Given the description of an element on the screen output the (x, y) to click on. 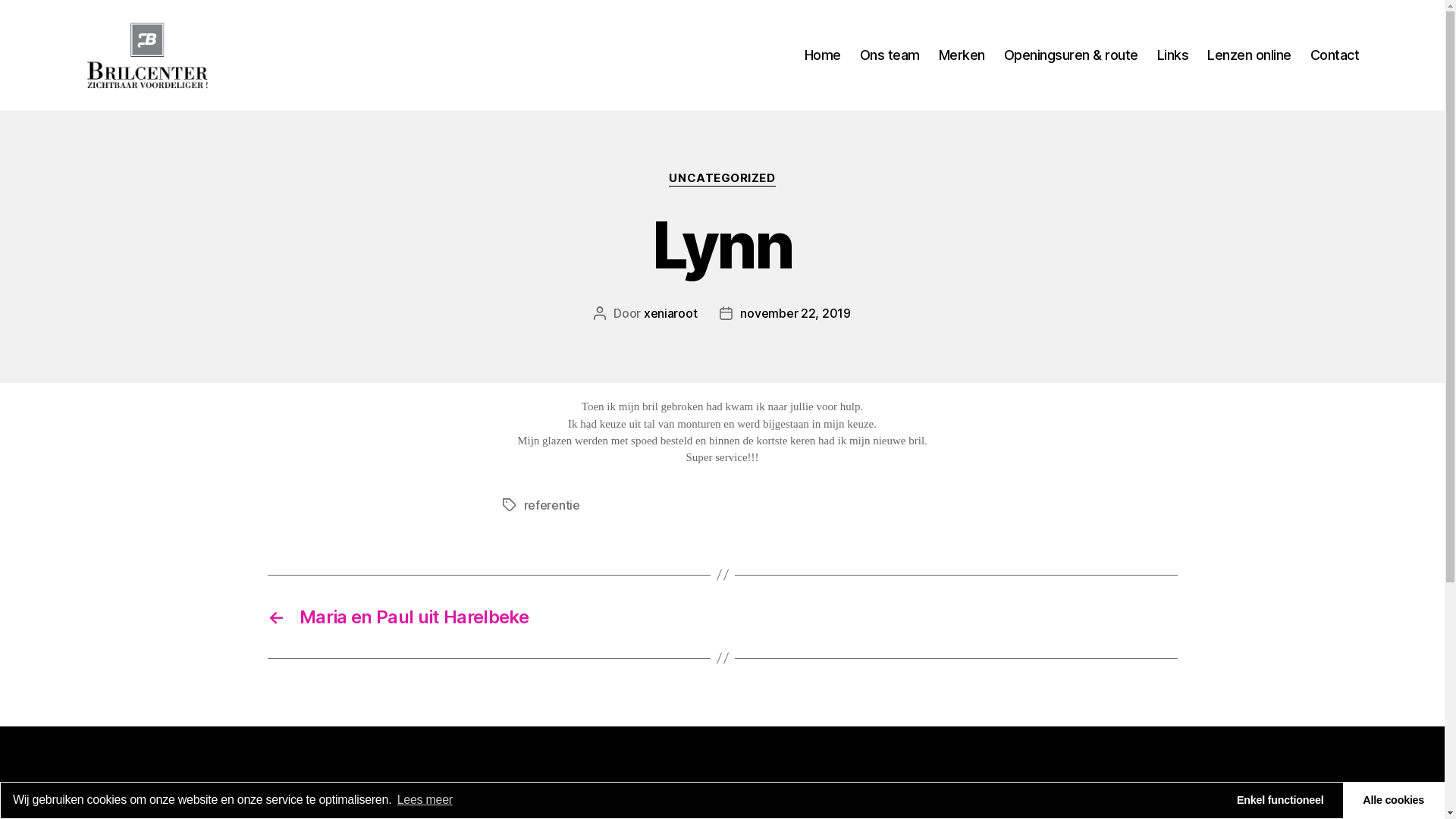
Openingsuren & route Element type: text (1071, 55)
Home Element type: text (822, 55)
Enkel functioneel Element type: text (1280, 800)
UNCATEGORIZED Element type: text (721, 178)
Contact Element type: text (1334, 55)
Lees meer Element type: text (422, 799)
Ons team Element type: text (889, 55)
Alle cookies Element type: text (1393, 800)
Lenzen online Element type: text (1249, 55)
Links Element type: text (1173, 55)
referentie Element type: text (551, 504)
november 22, 2019 Element type: text (795, 312)
Merken Element type: text (961, 55)
xeniaroot Element type: text (670, 312)
